Given the description of an element on the screen output the (x, y) to click on. 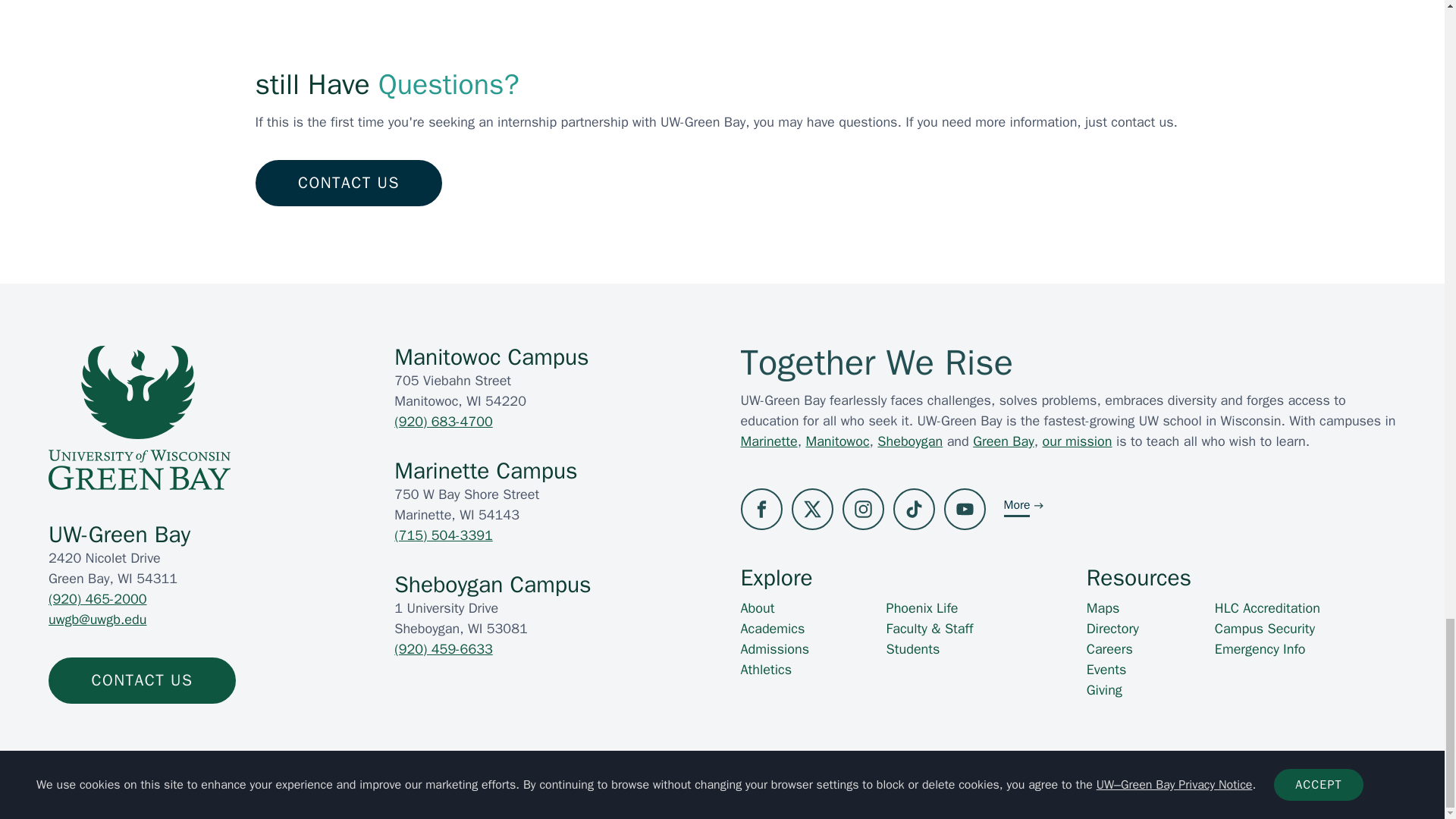
University of Wisconsin-Green Bay logo (139, 417)
